Given the description of an element on the screen output the (x, y) to click on. 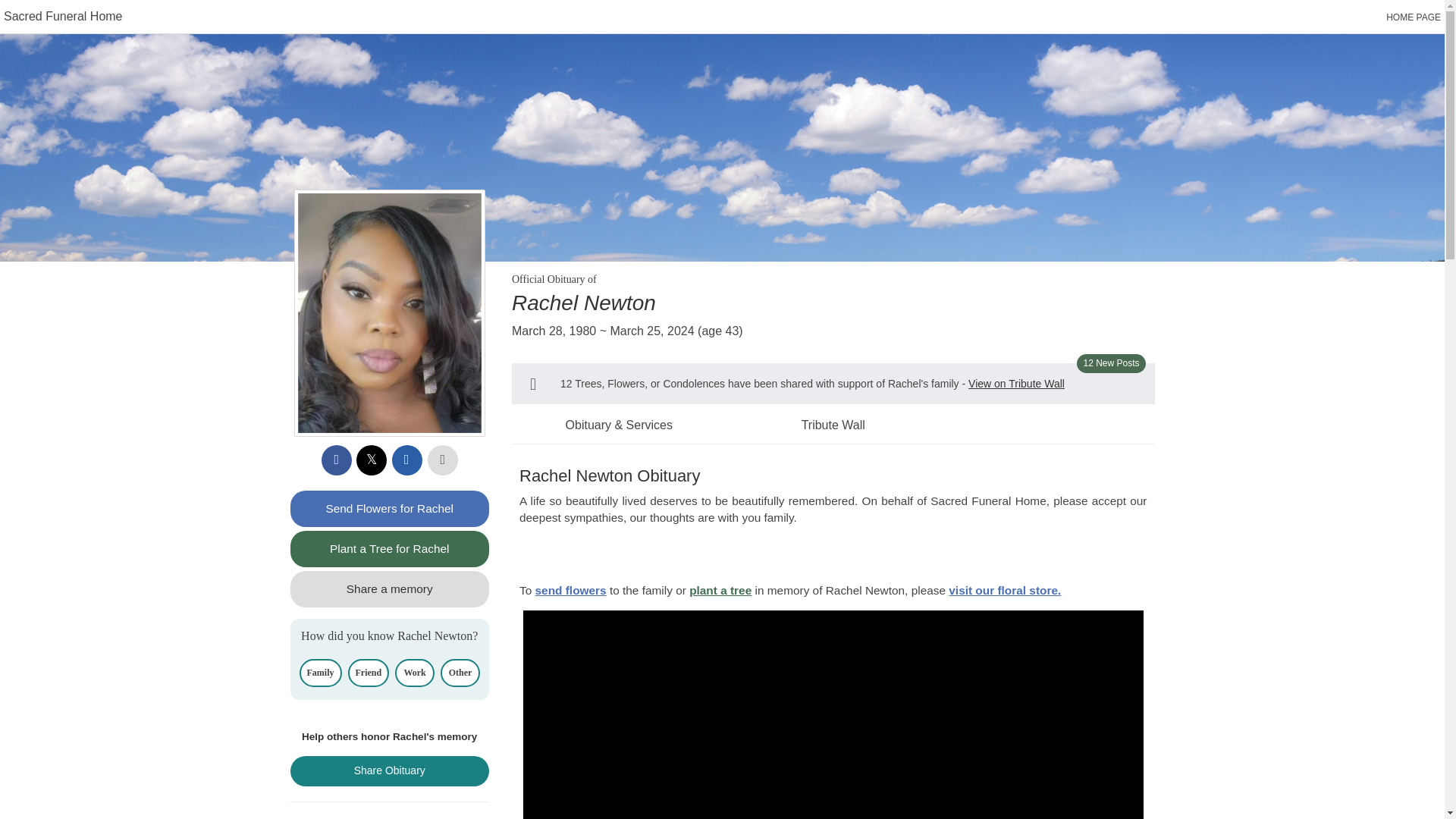
Share Obituary (389, 770)
Share via email (406, 460)
Share to Facebook (336, 460)
send flowers (571, 590)
Share on X (371, 460)
Send Flowers for Rachel (389, 508)
visit our floral store. (1005, 590)
View on Tribute Wall (1016, 383)
Printable copy (443, 460)
Sacred Funeral Home (63, 15)
Plant a Tree for Rachel (389, 548)
plant a tree (719, 590)
Share a memory (389, 588)
HOME PAGE (1413, 17)
